Given the description of an element on the screen output the (x, y) to click on. 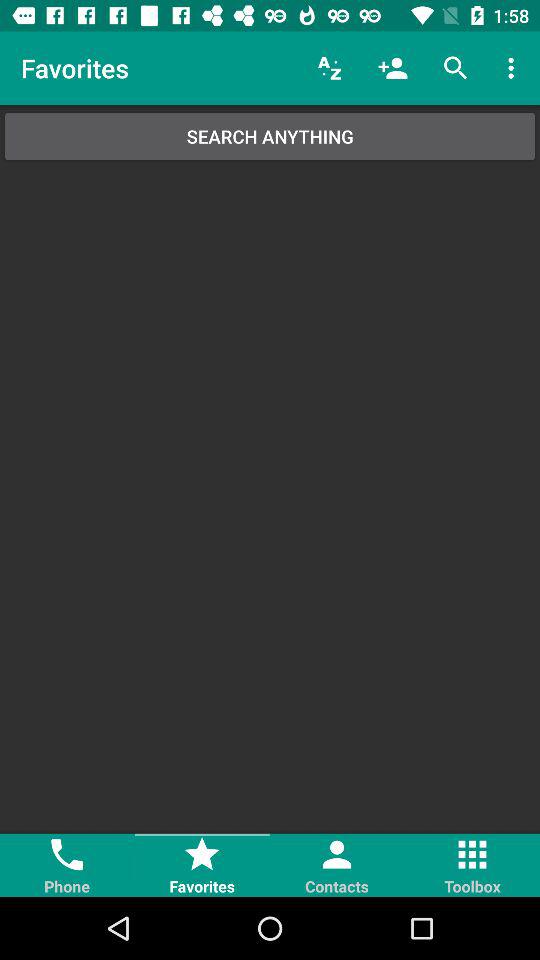
open icon above the search anything item (392, 67)
